Given the description of an element on the screen output the (x, y) to click on. 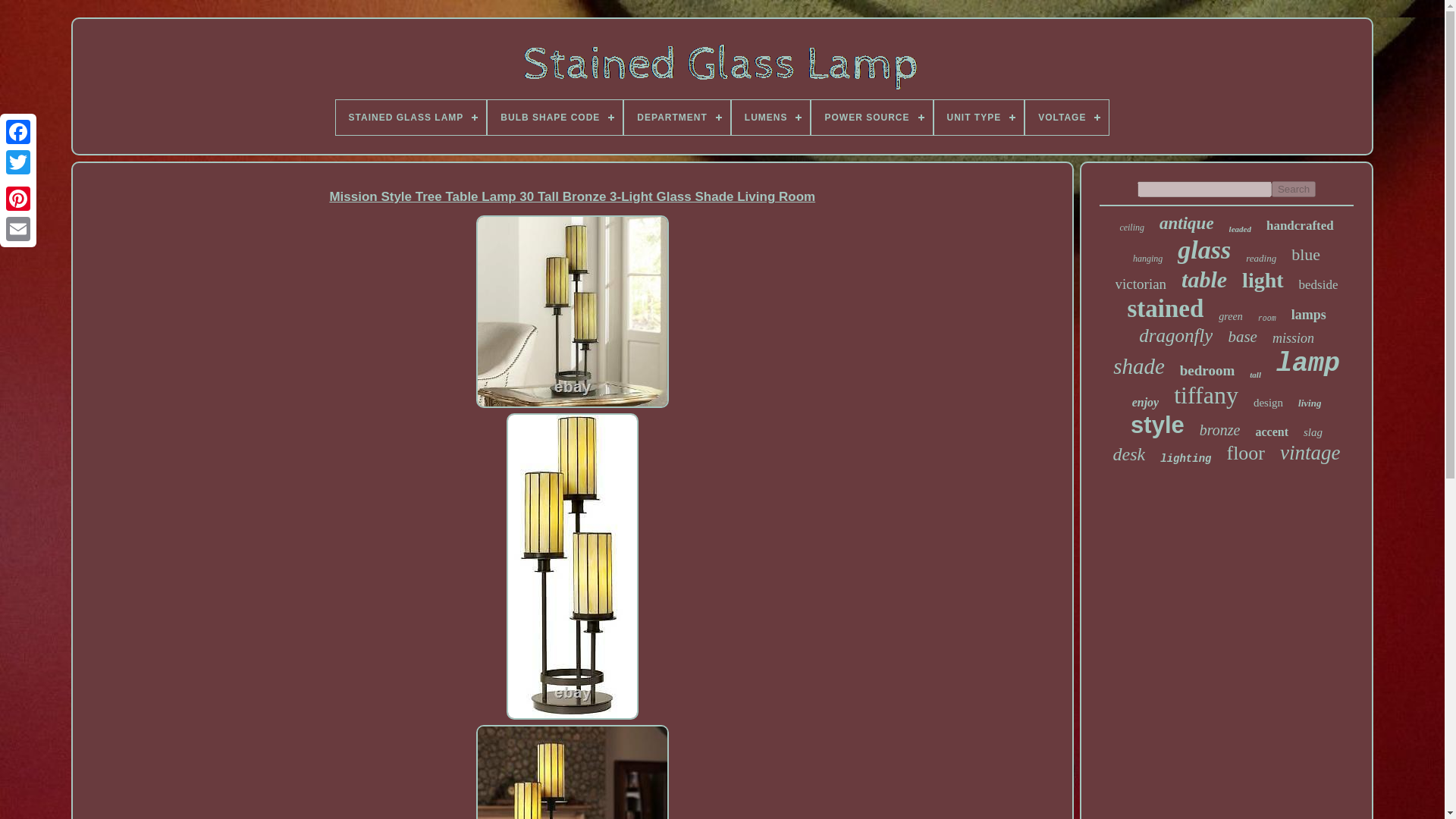
Search (1293, 188)
STAINED GLASS LAMP (411, 117)
BULB SHAPE CODE (555, 117)
DEPARTMENT (676, 117)
Facebook (17, 132)
